Given the description of an element on the screen output the (x, y) to click on. 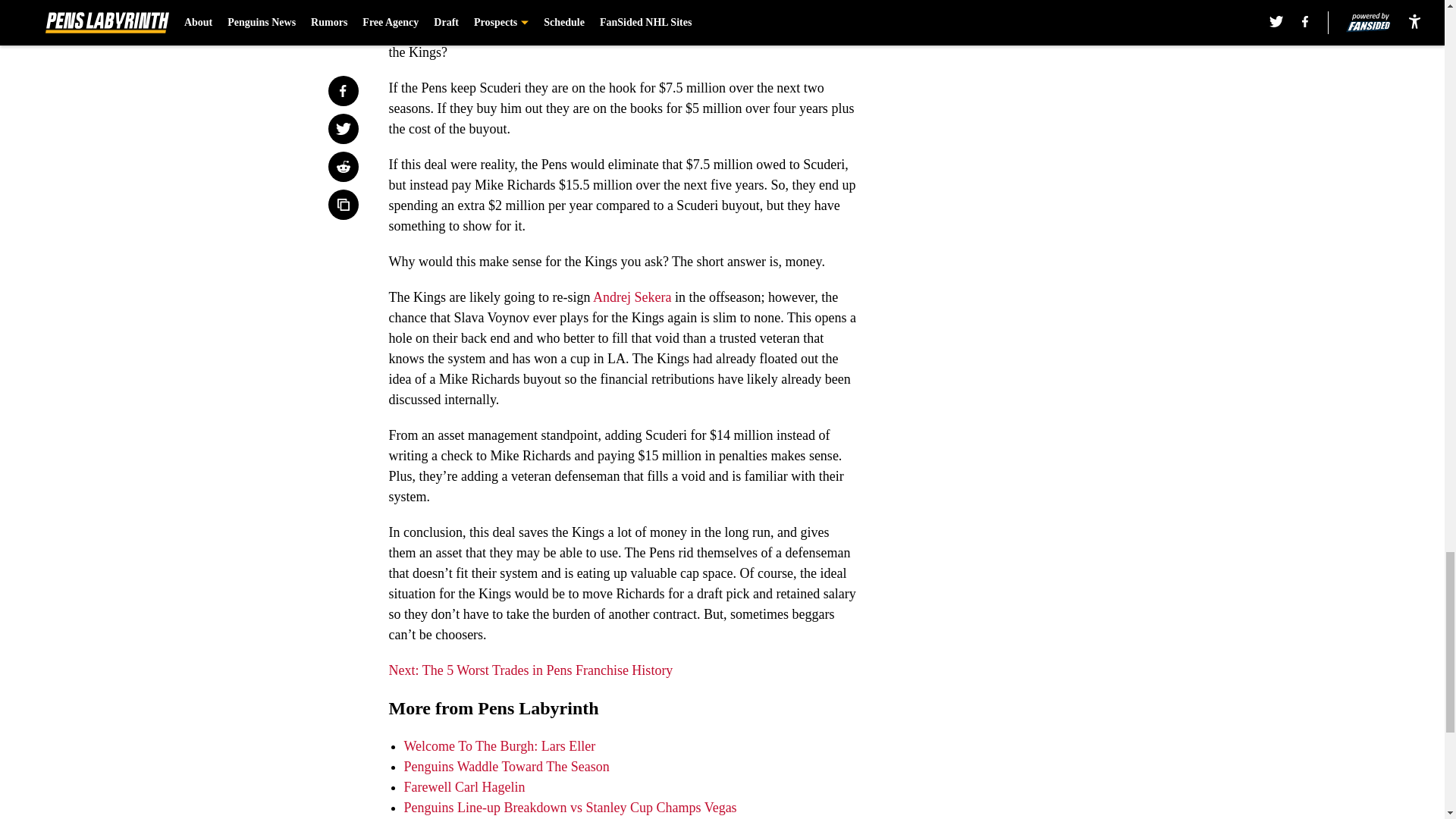
Farewell Carl Hagelin (463, 786)
Andrej Sekera (631, 296)
Next: The 5 Worst Trades in Pens Franchise History (530, 670)
Welcome To The Burgh: Lars Eller (499, 745)
Penguins Waddle Toward The Season (505, 766)
